Given the description of an element on the screen output the (x, y) to click on. 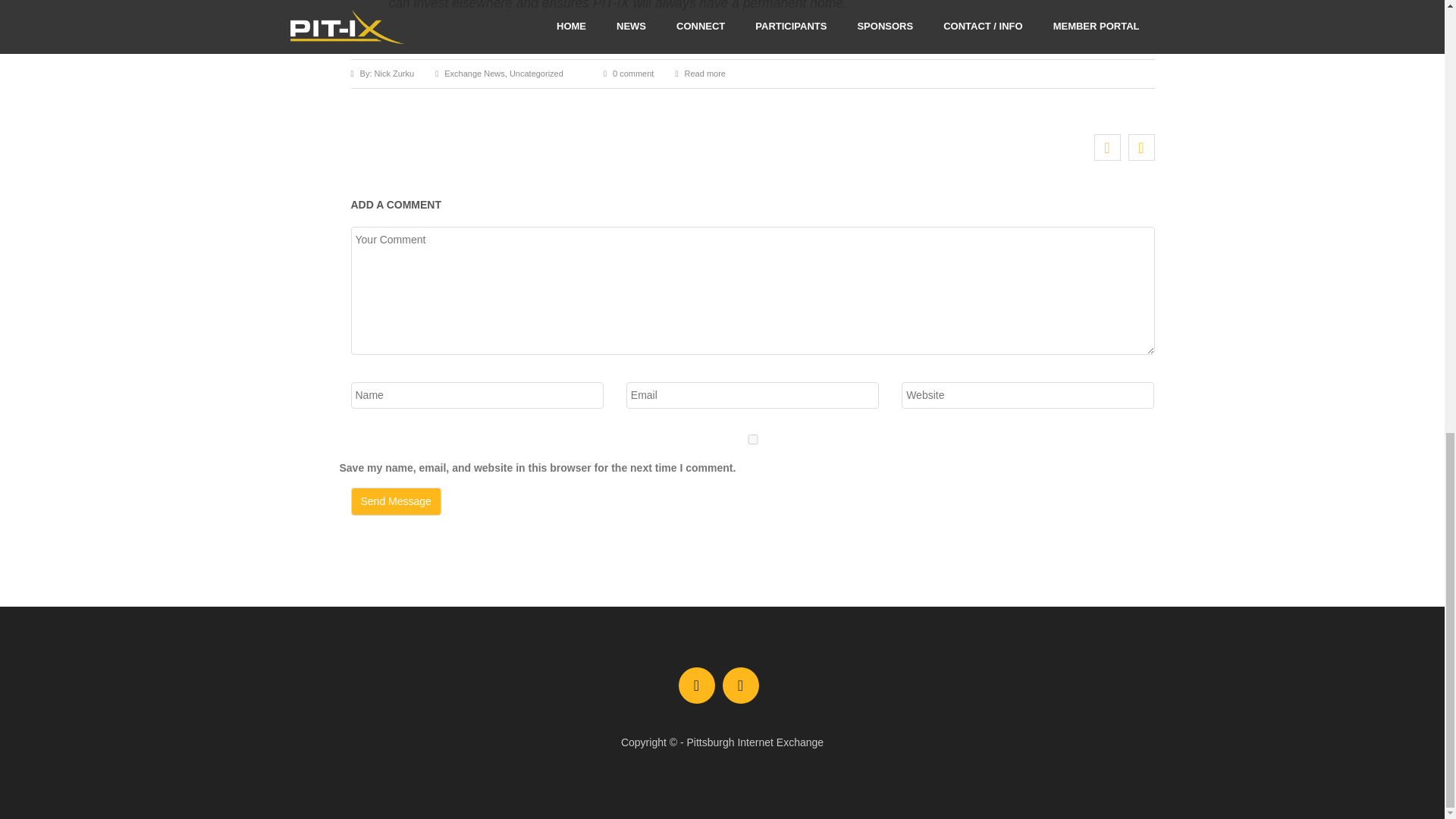
Read more (704, 72)
By: Nick Zurku (387, 72)
yes (752, 439)
Send Message (395, 501)
Uncategorized (536, 72)
Exchange News (474, 72)
View all posts by Nick Zurku (387, 72)
0 comment (632, 72)
Send Message (395, 501)
